Given the description of an element on the screen output the (x, y) to click on. 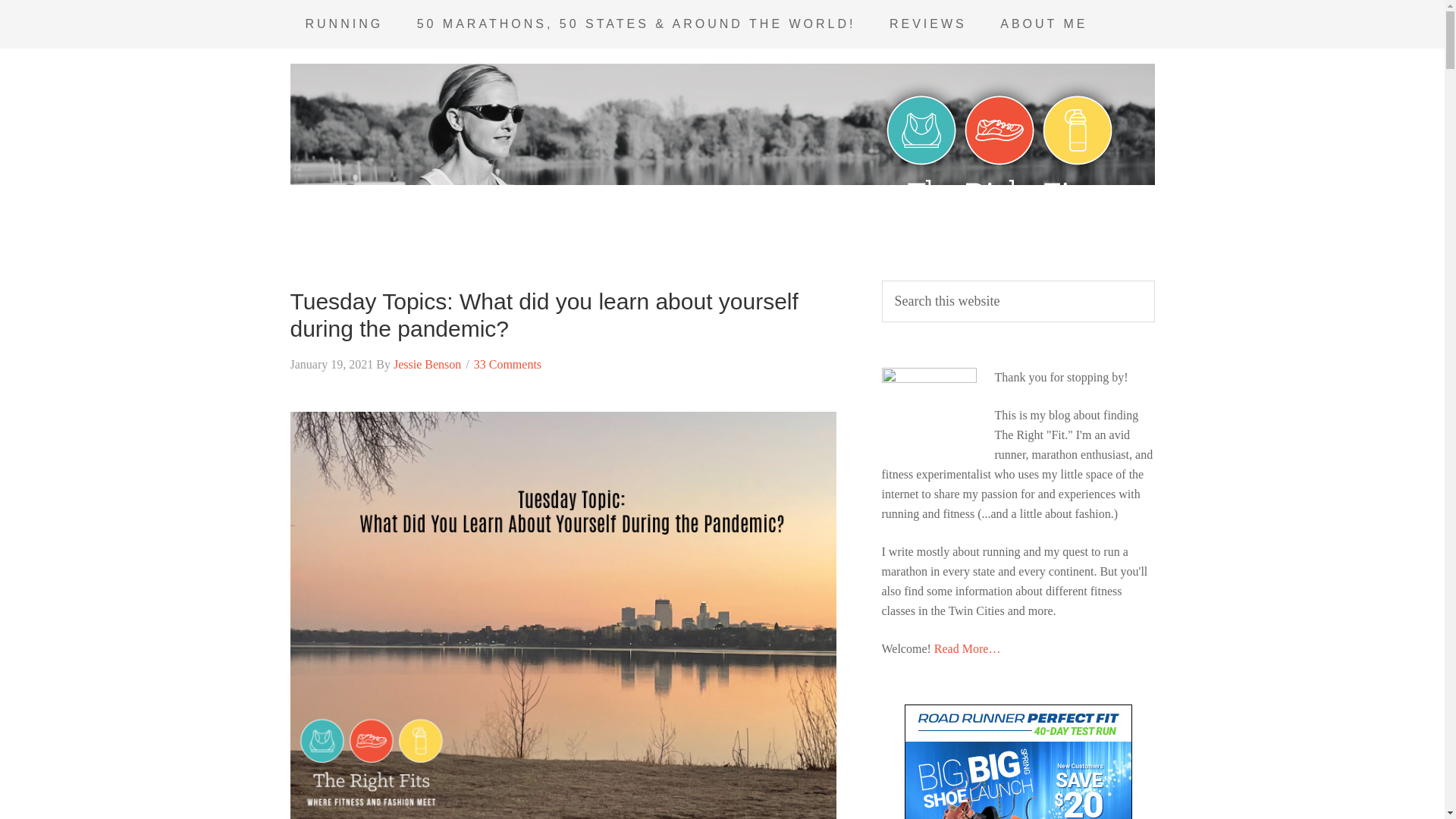
ABOUT ME (1043, 24)
Jessie Benson (427, 364)
REVIEWS (928, 24)
33 Comments (507, 364)
RUNNING (343, 24)
